Given the description of an element on the screen output the (x, y) to click on. 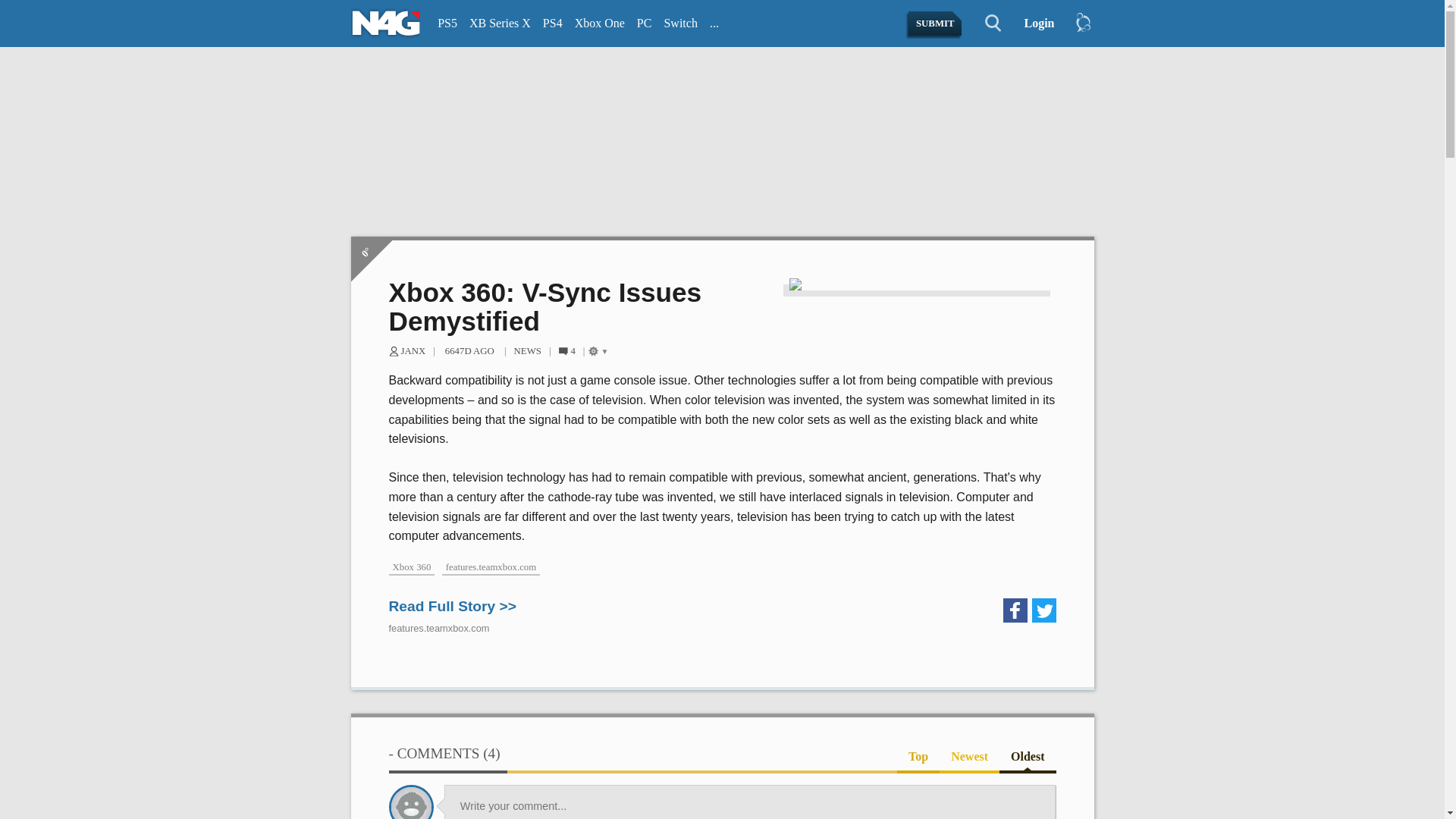
Xbox One (599, 24)
Login (1033, 23)
PS5 (446, 24)
PS4 (553, 24)
PC (644, 24)
SUBMIT (935, 23)
XB Series X (500, 24)
Search (984, 23)
Switch (680, 24)
